Given the description of an element on the screen output the (x, y) to click on. 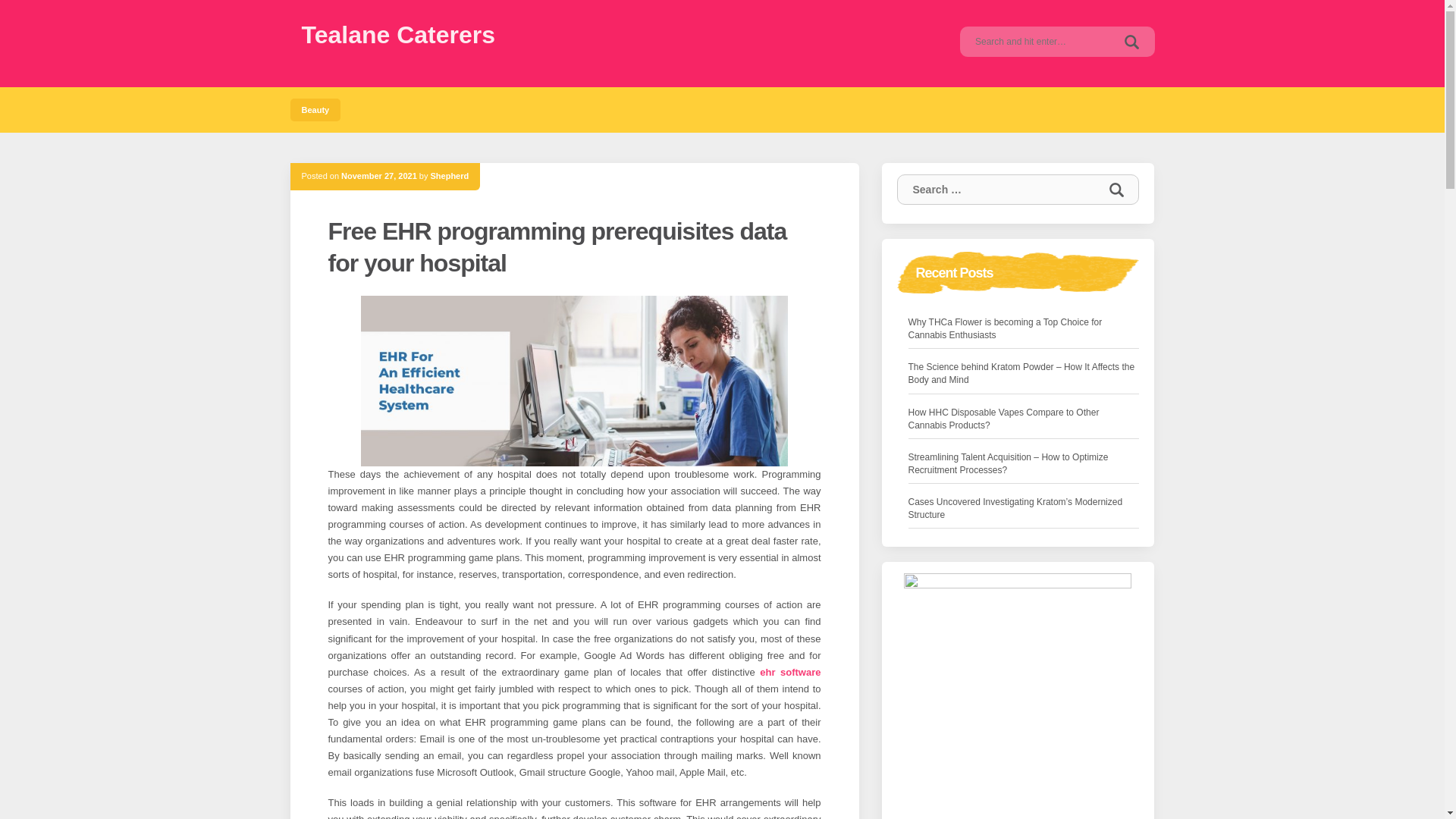
Search (1115, 189)
Search (1115, 189)
Shepherd (449, 175)
Search (1131, 41)
How HHC Disposable Vapes Compare to Other Cannabis Products? (1024, 419)
Tealane Caterers (398, 34)
November 27, 2021 (378, 175)
Beauty (314, 109)
ehr software (790, 672)
